Given the description of an element on the screen output the (x, y) to click on. 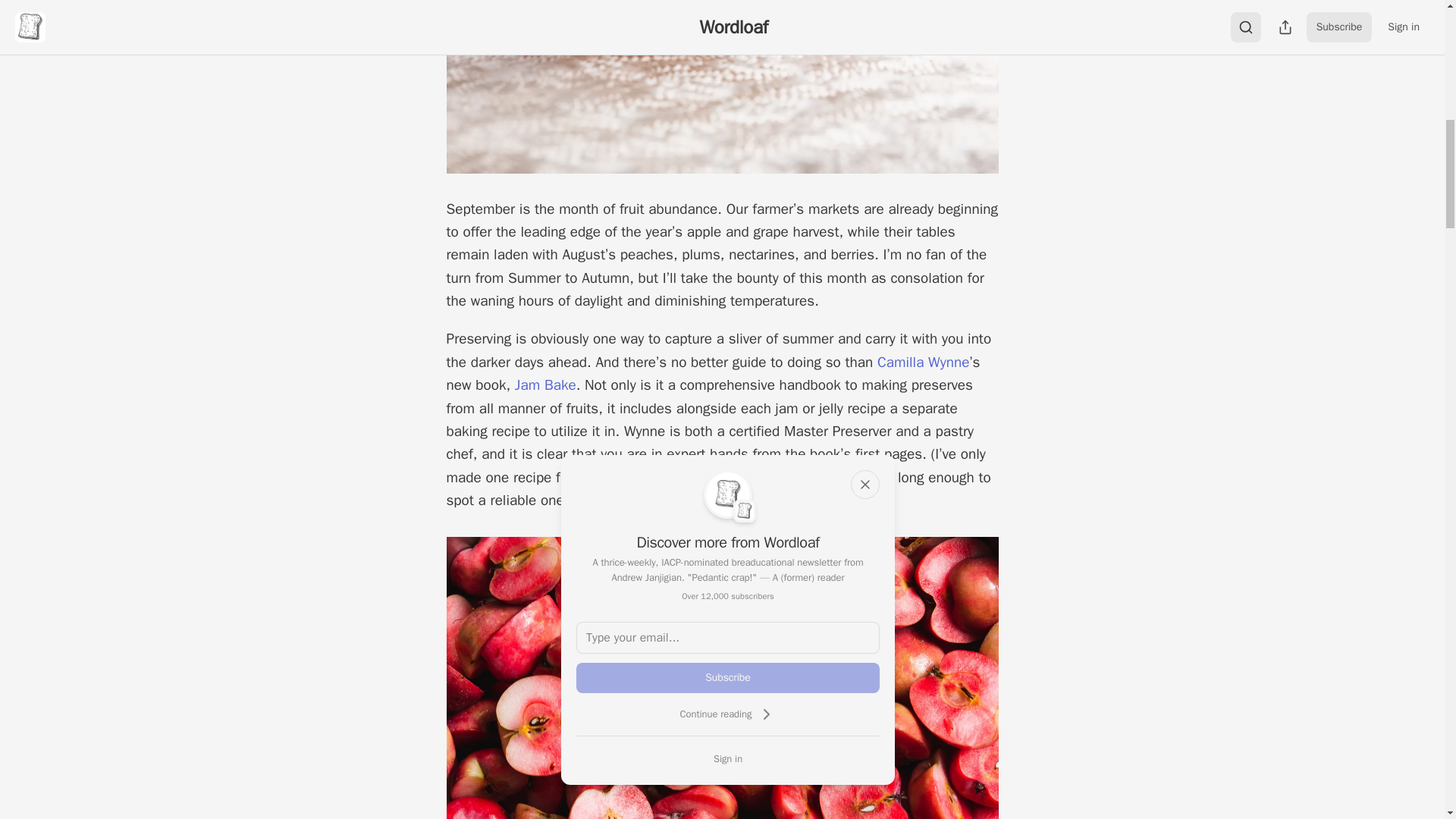
Camilla Wynne (923, 361)
Subscribe (727, 677)
Jam Bake (545, 384)
Sign in (727, 758)
